Given the description of an element on the screen output the (x, y) to click on. 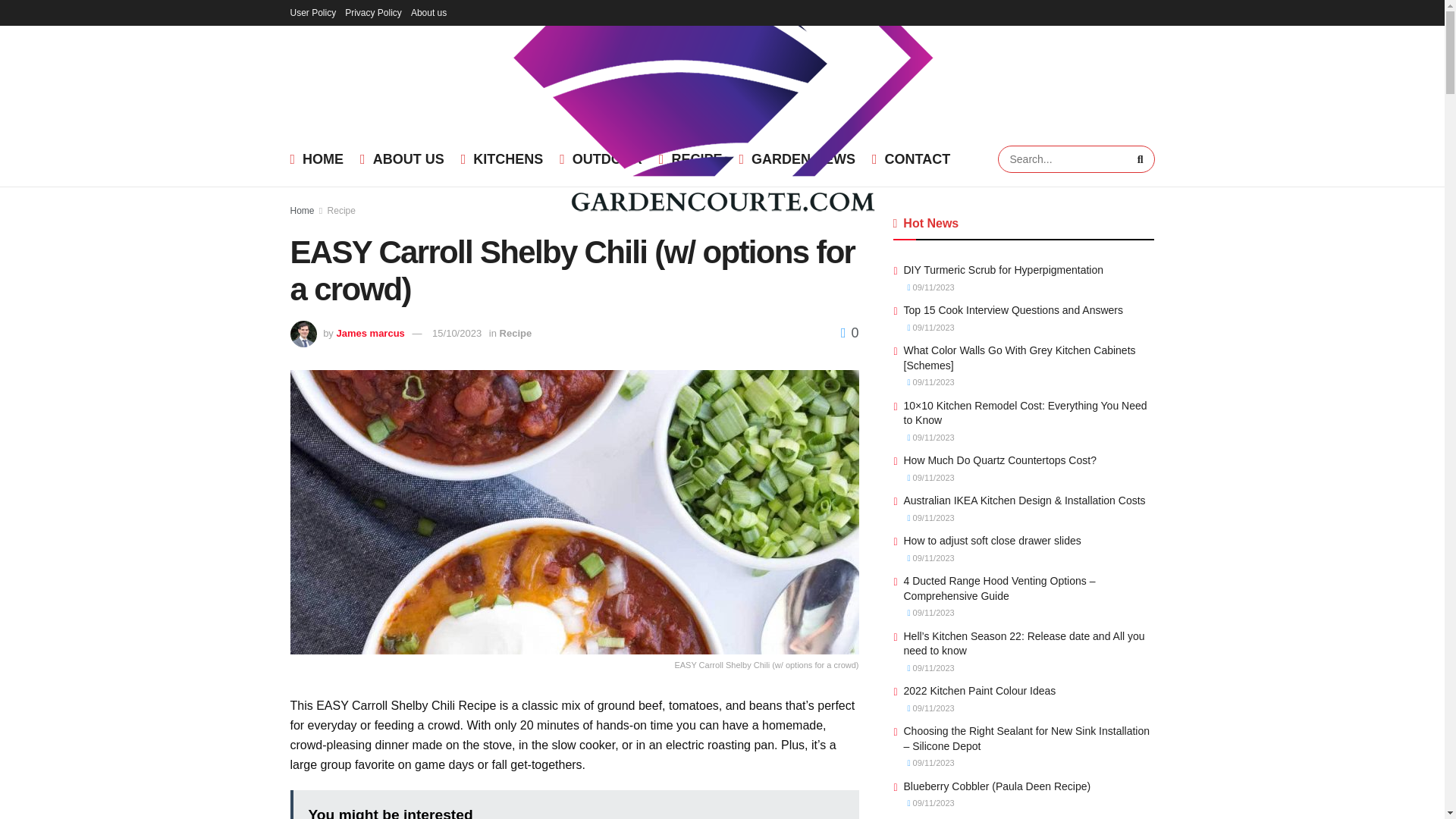
Privacy Policy (373, 12)
Home (301, 210)
0 (850, 332)
ABOUT US (401, 159)
Recipe (515, 333)
CONTACT (911, 159)
GARDEN NEWS (797, 159)
KITCHENS (502, 159)
James marcus (370, 333)
User Policy (312, 12)
HOME (316, 159)
About us (428, 12)
OUTDOOR (600, 159)
Recipe (341, 210)
RECIPE (690, 159)
